Given the description of an element on the screen output the (x, y) to click on. 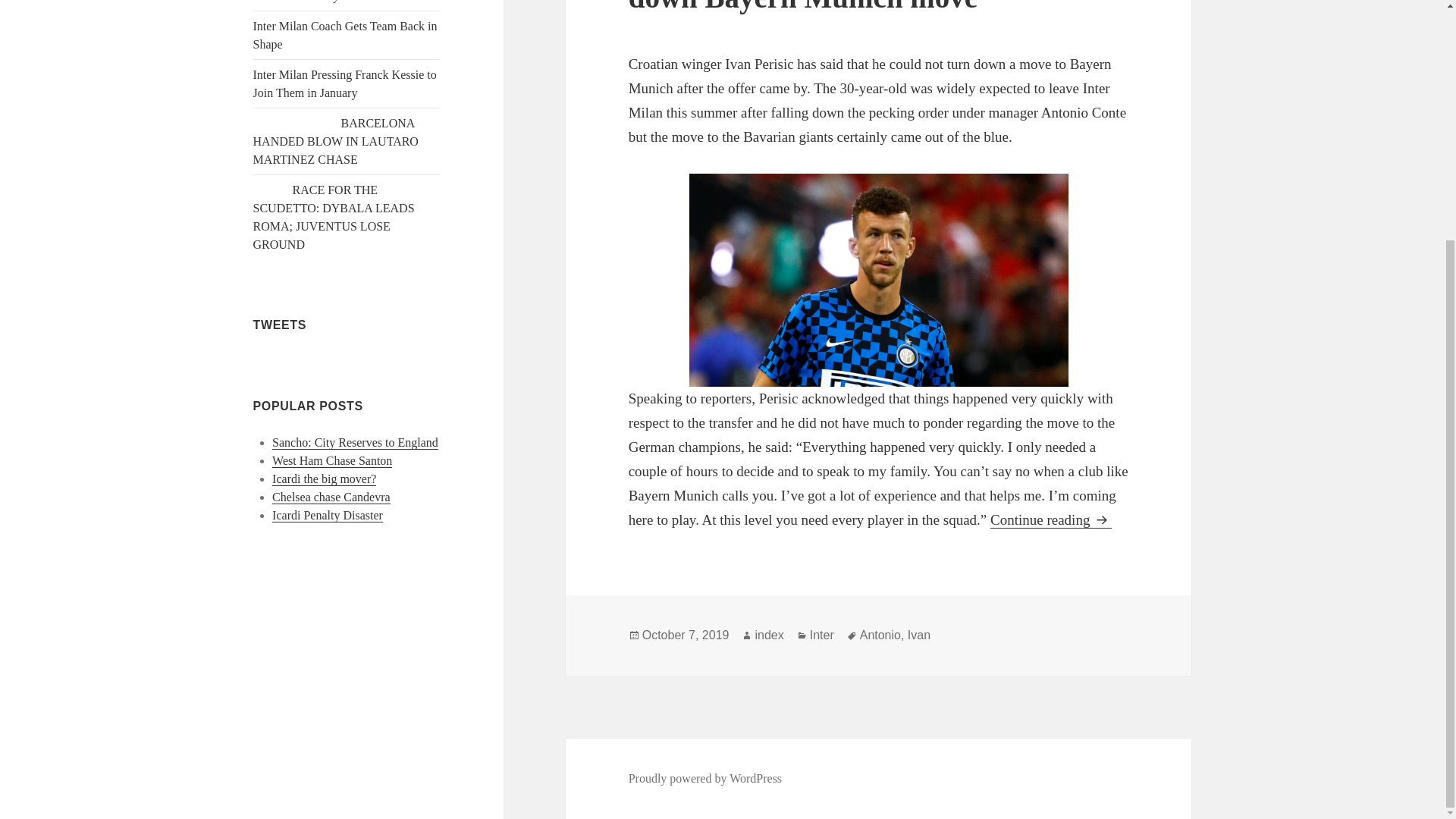
Icardi Penalty Disaster (327, 515)
Ivan (918, 635)
Inter Milan Pressing Franck Kessie to Join Them in January (344, 83)
Chelsea chase Candevra (331, 497)
Icardi the big mover? (323, 479)
Inter (821, 635)
